Given the description of an element on the screen output the (x, y) to click on. 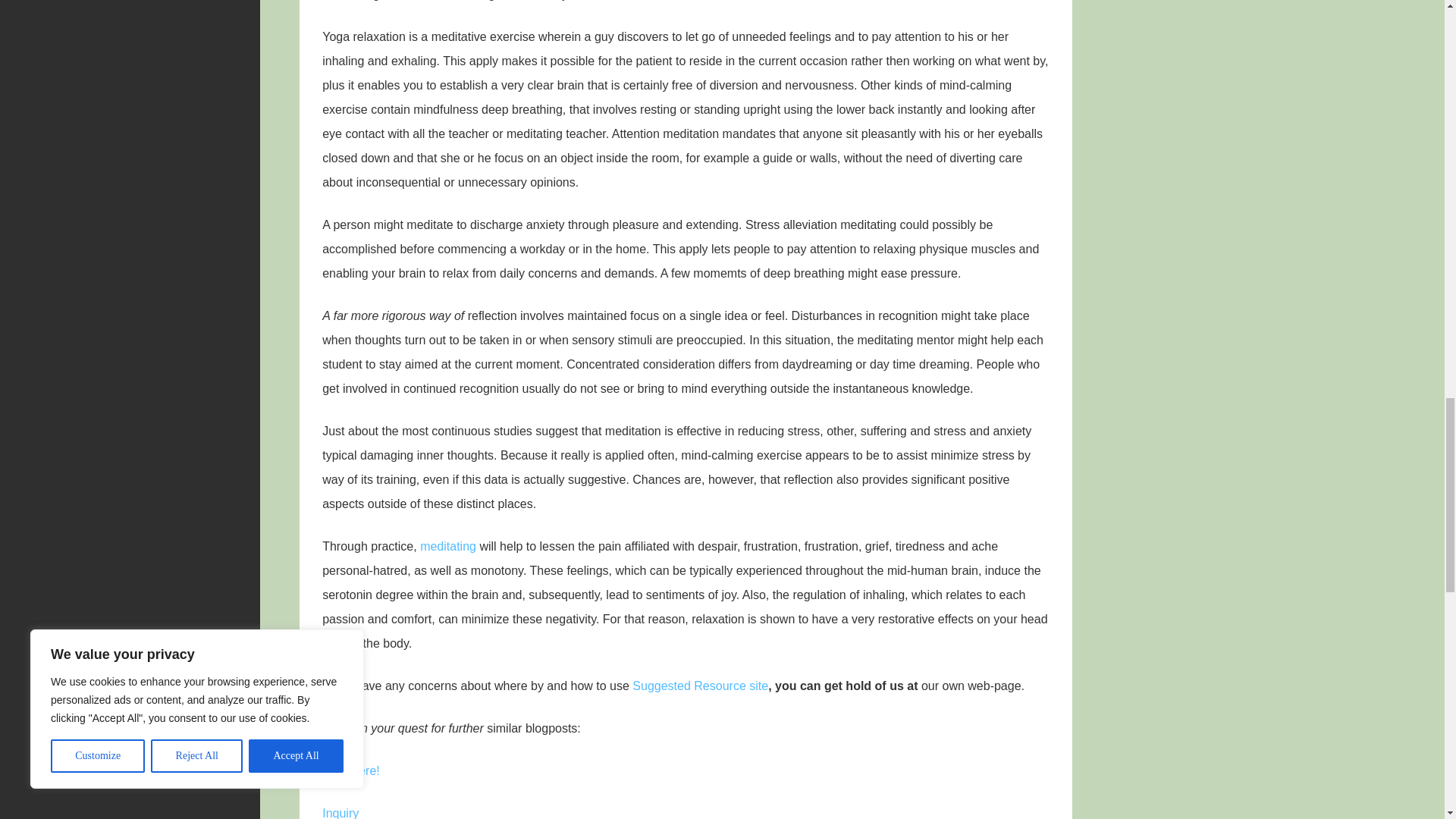
meditating (448, 545)
Inquiry (339, 812)
Suggested Resource site (699, 685)
Click here! (350, 770)
